Given the description of an element on the screen output the (x, y) to click on. 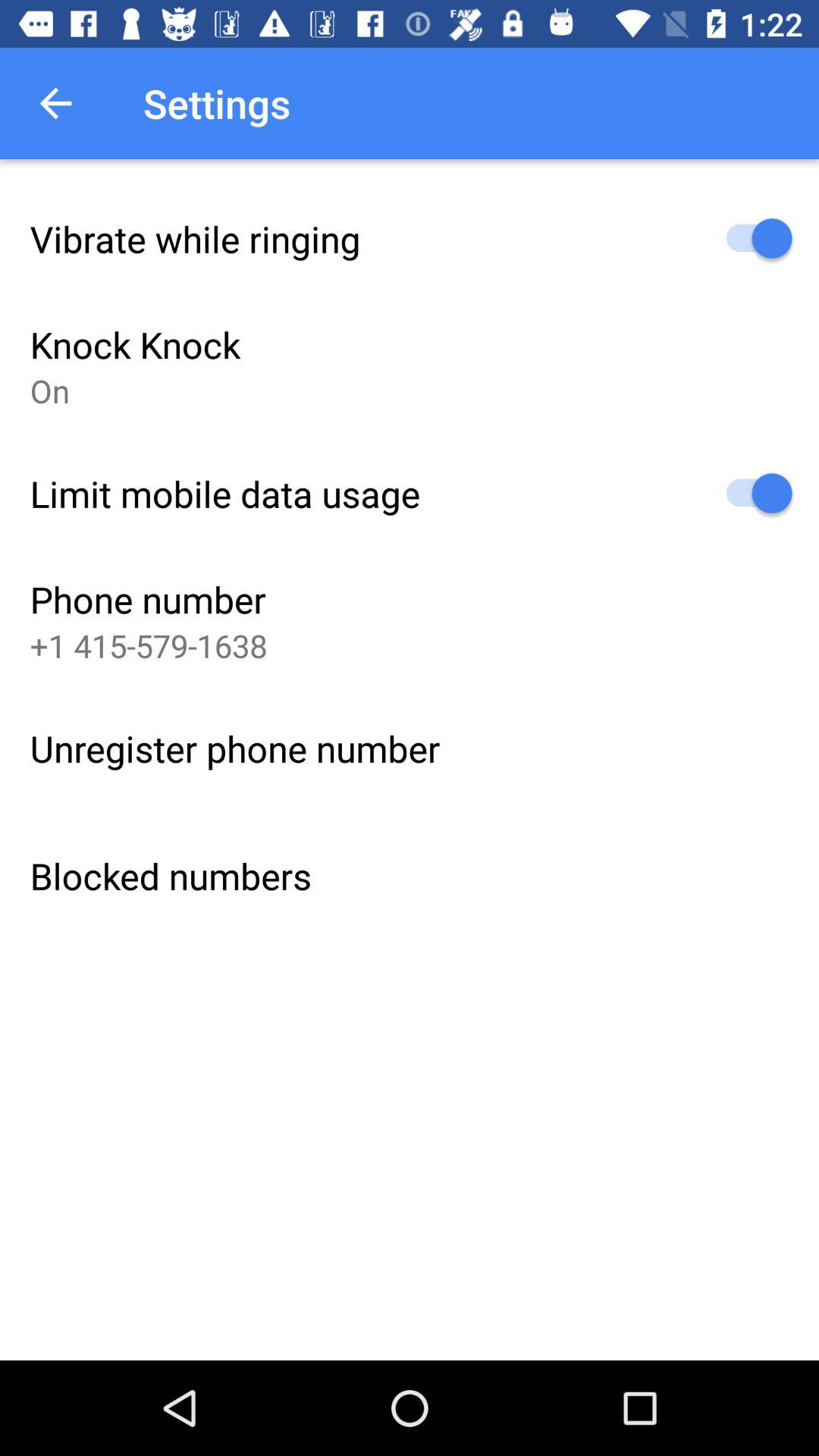
open icon above vibrate while ringing item (55, 103)
